Given the description of an element on the screen output the (x, y) to click on. 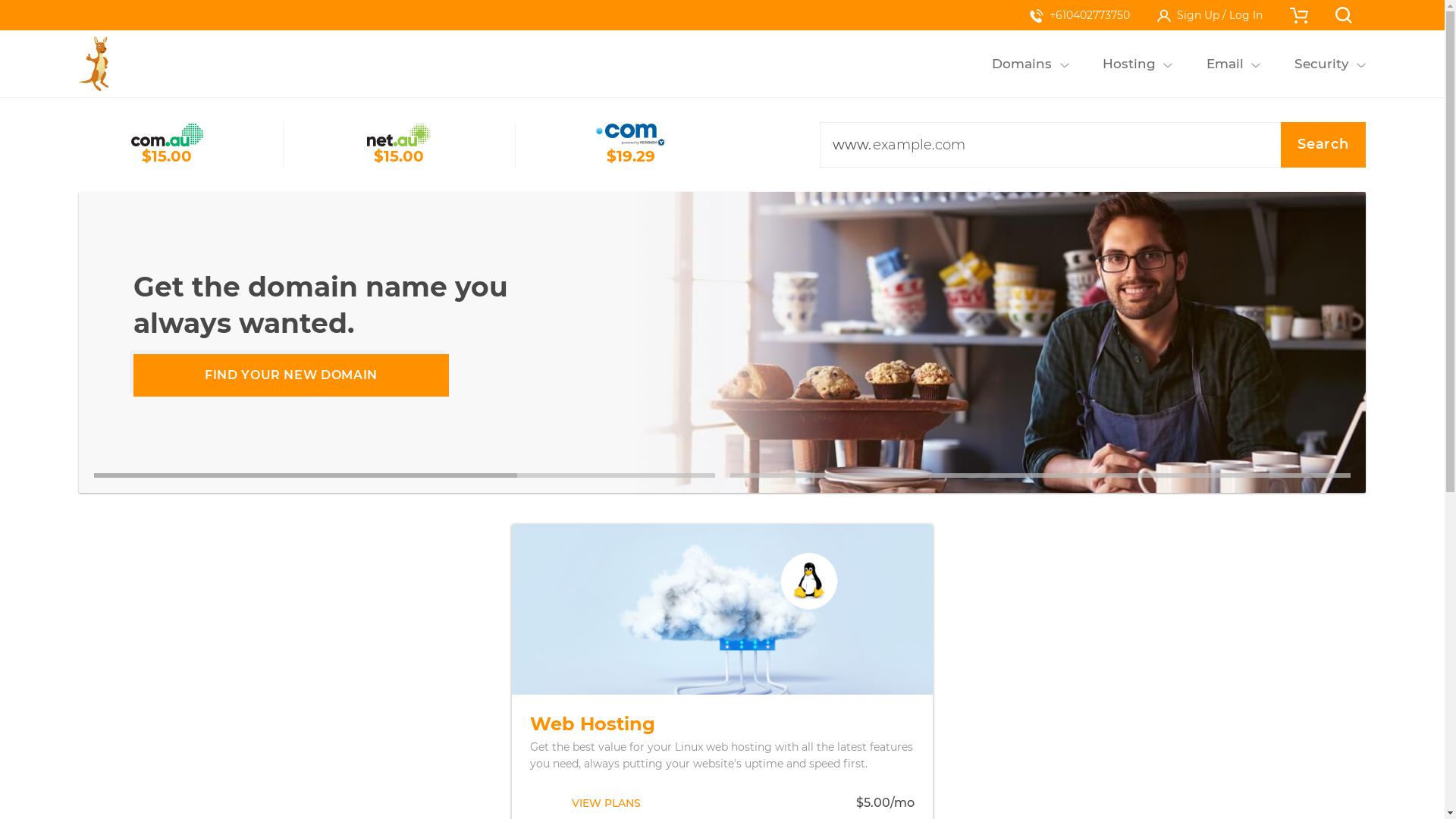
BUILD NOW Element type: text (290, 375)
Security Element type: text (1321, 63)
Search Element type: text (1322, 144)
VIEW PLANS Element type: text (606, 802)
+610402773750 Element type: text (1079, 15)
Hosting Element type: text (1129, 63)
Domains Element type: text (1021, 63)
Email Element type: text (1224, 63)
